Given the description of an element on the screen output the (x, y) to click on. 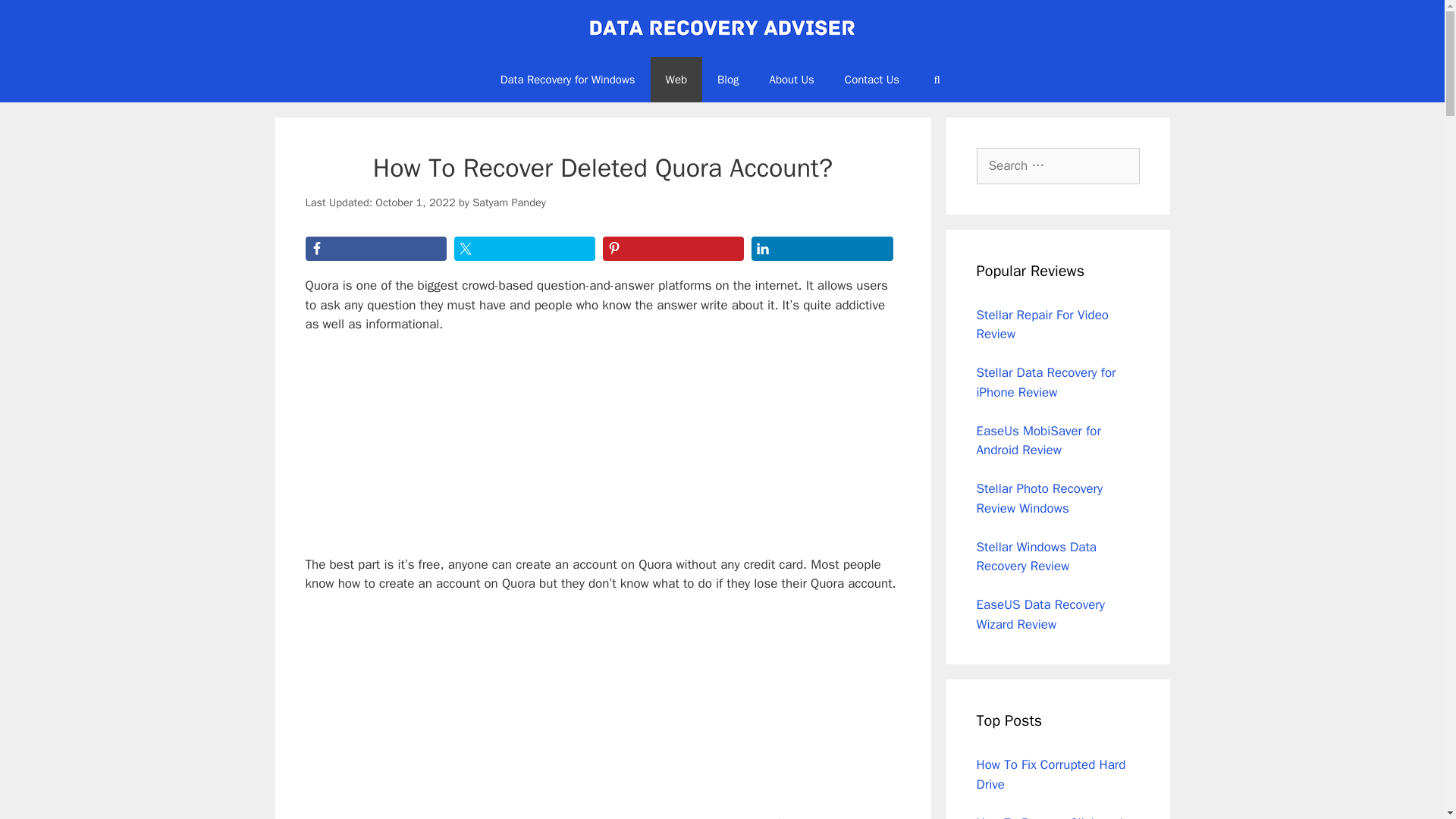
Search (35, 18)
Share on Facebook (374, 248)
Contact Us (871, 79)
Data Recovery for Windows (567, 79)
EaseUs MobiSaver for Android Review (1038, 440)
Stellar Windows Data Recovery Review (1036, 556)
Stellar Data Recovery for iPhone Review (1046, 382)
Share on Twitter (524, 248)
Share on Pinterest (673, 248)
Blog (727, 79)
